Given the description of an element on the screen output the (x, y) to click on. 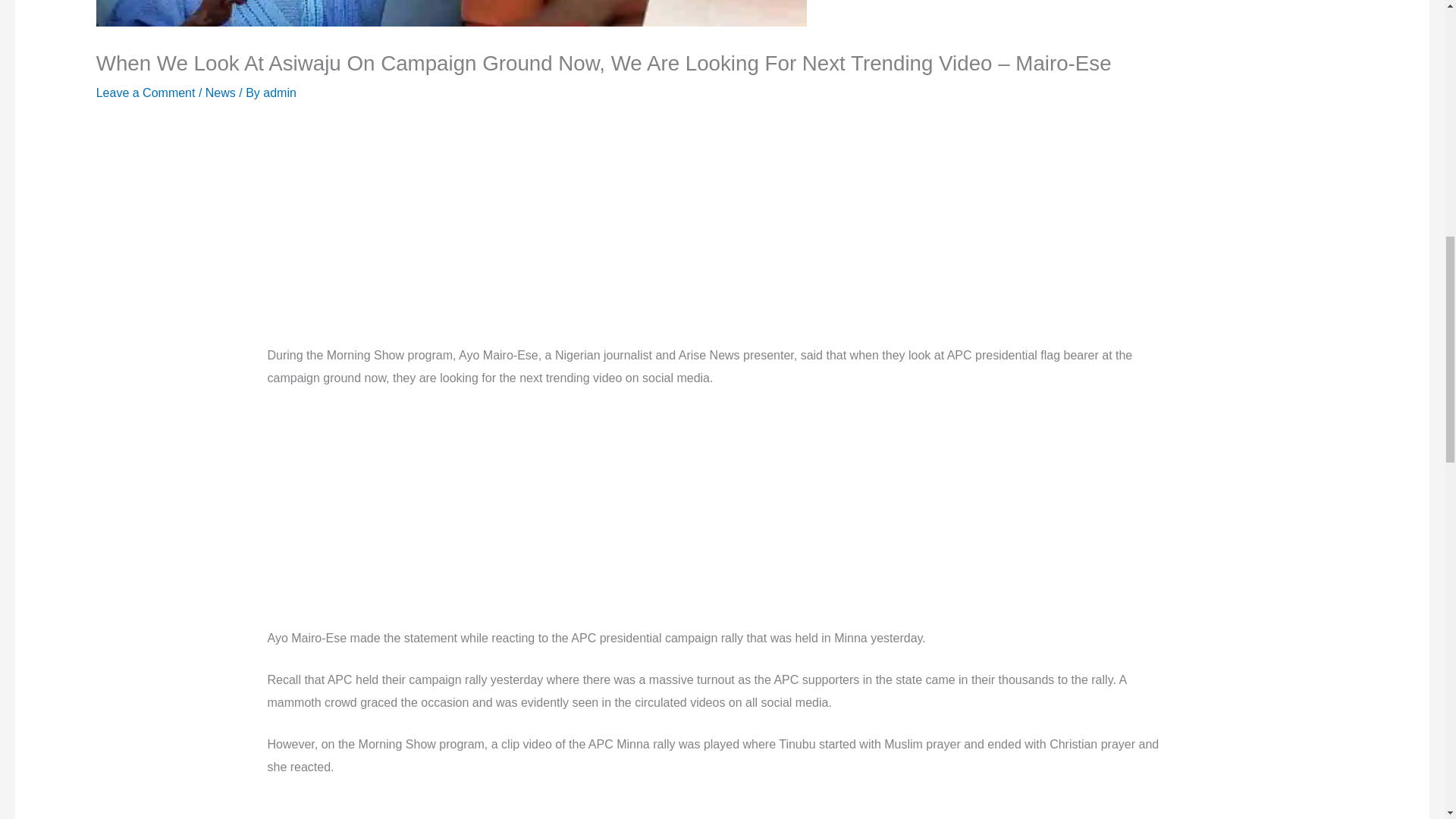
admin (280, 92)
View all posts by admin (280, 92)
News (220, 92)
Leave a Comment (145, 92)
